Given the description of an element on the screen output the (x, y) to click on. 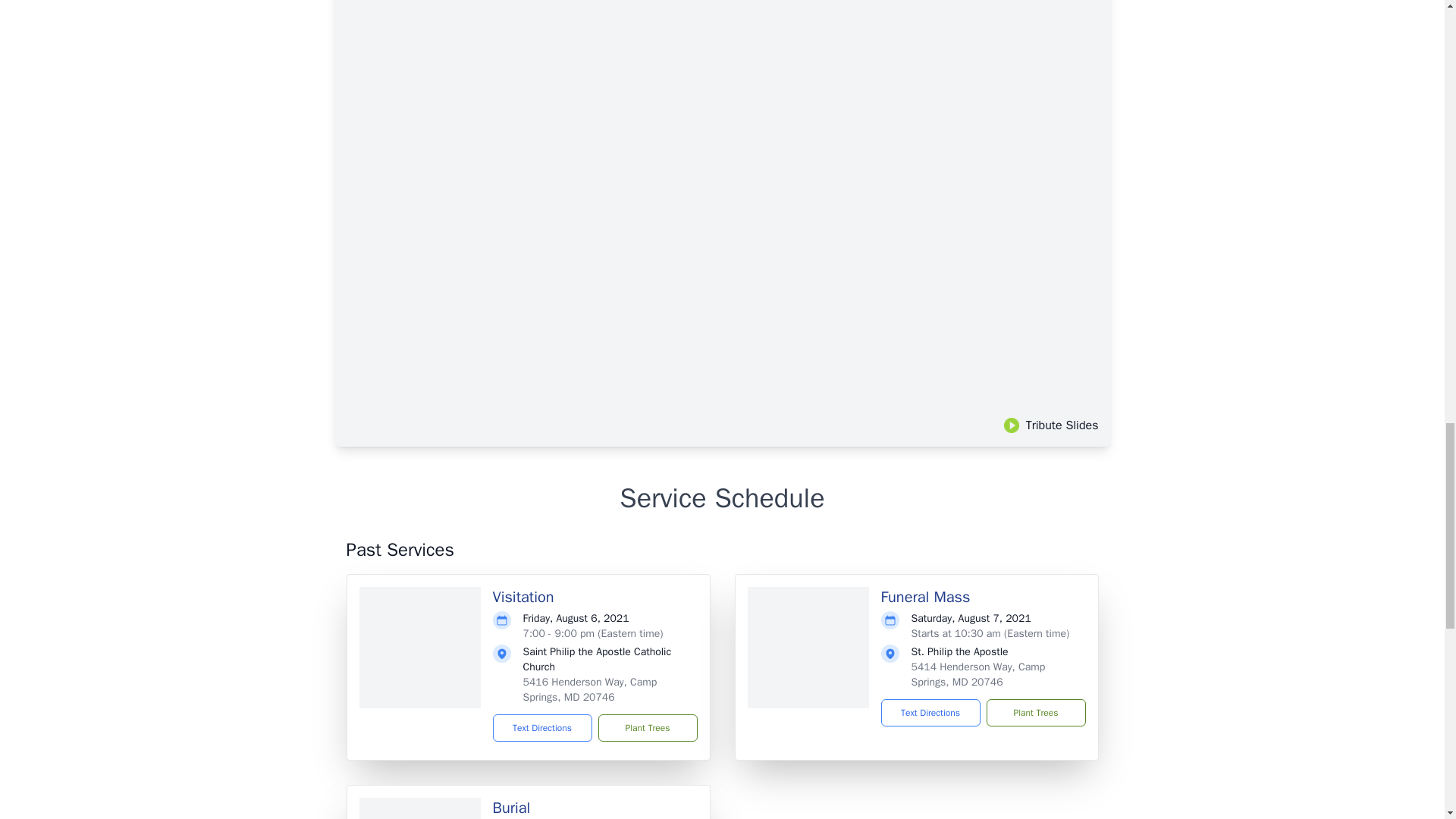
5414 Henderson Way, Camp Springs, MD 20746 (978, 674)
Text Directions (929, 712)
Plant Trees (1034, 712)
5416 Henderson Way, Camp Springs, MD 20746 (590, 689)
Text Directions (542, 728)
Plant Trees (646, 728)
